Given the description of an element on the screen output the (x, y) to click on. 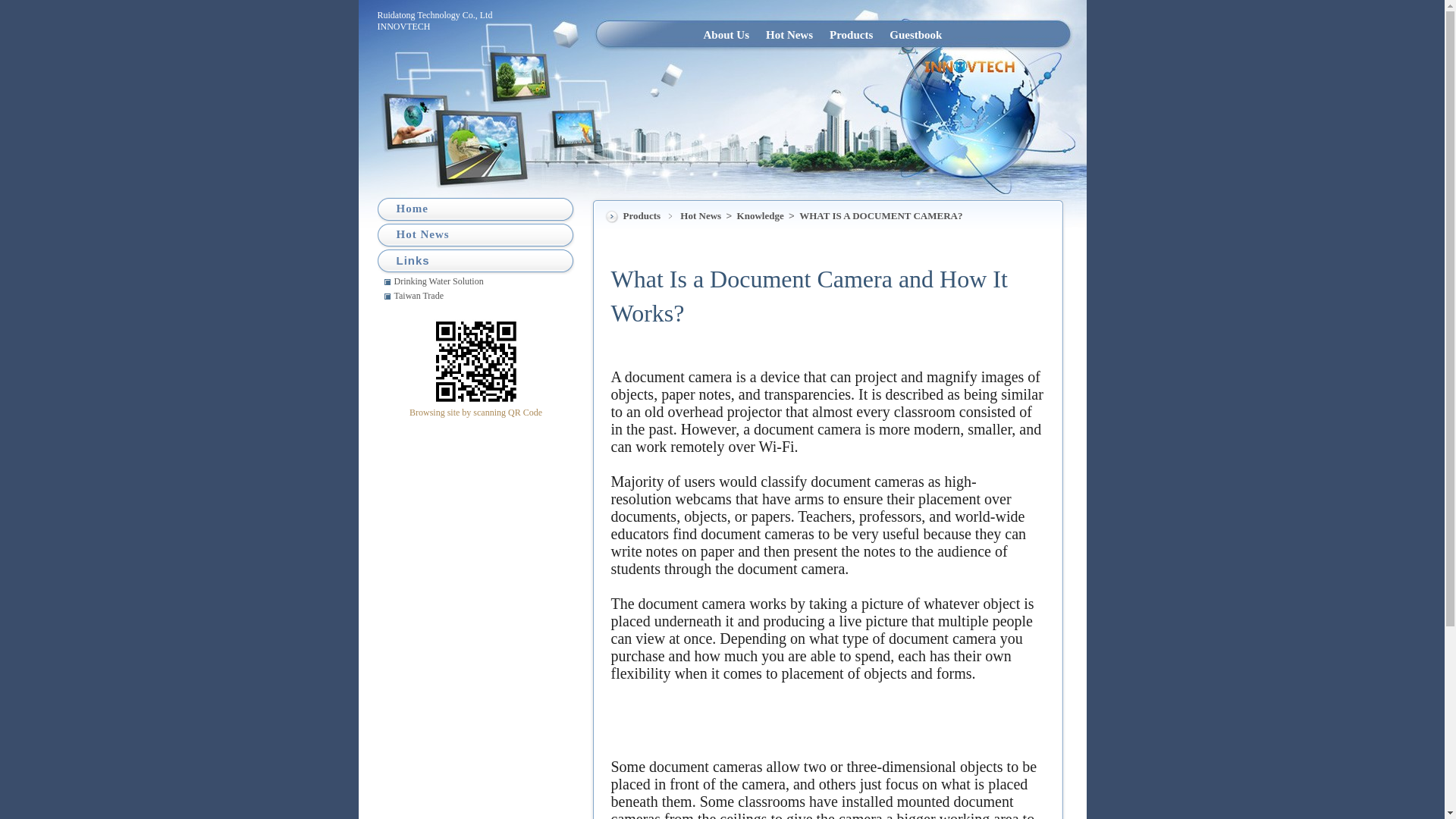
Hot News (789, 34)
Home (412, 208)
Hot News (701, 215)
Hot News (789, 34)
Ruidatong Technology Co., Ltd (435, 14)
Taiwan Trade (480, 295)
Drinking Water Solution (480, 280)
Products (850, 34)
Drinking Water Solution (480, 280)
Knowledge (762, 215)
